Given the description of an element on the screen output the (x, y) to click on. 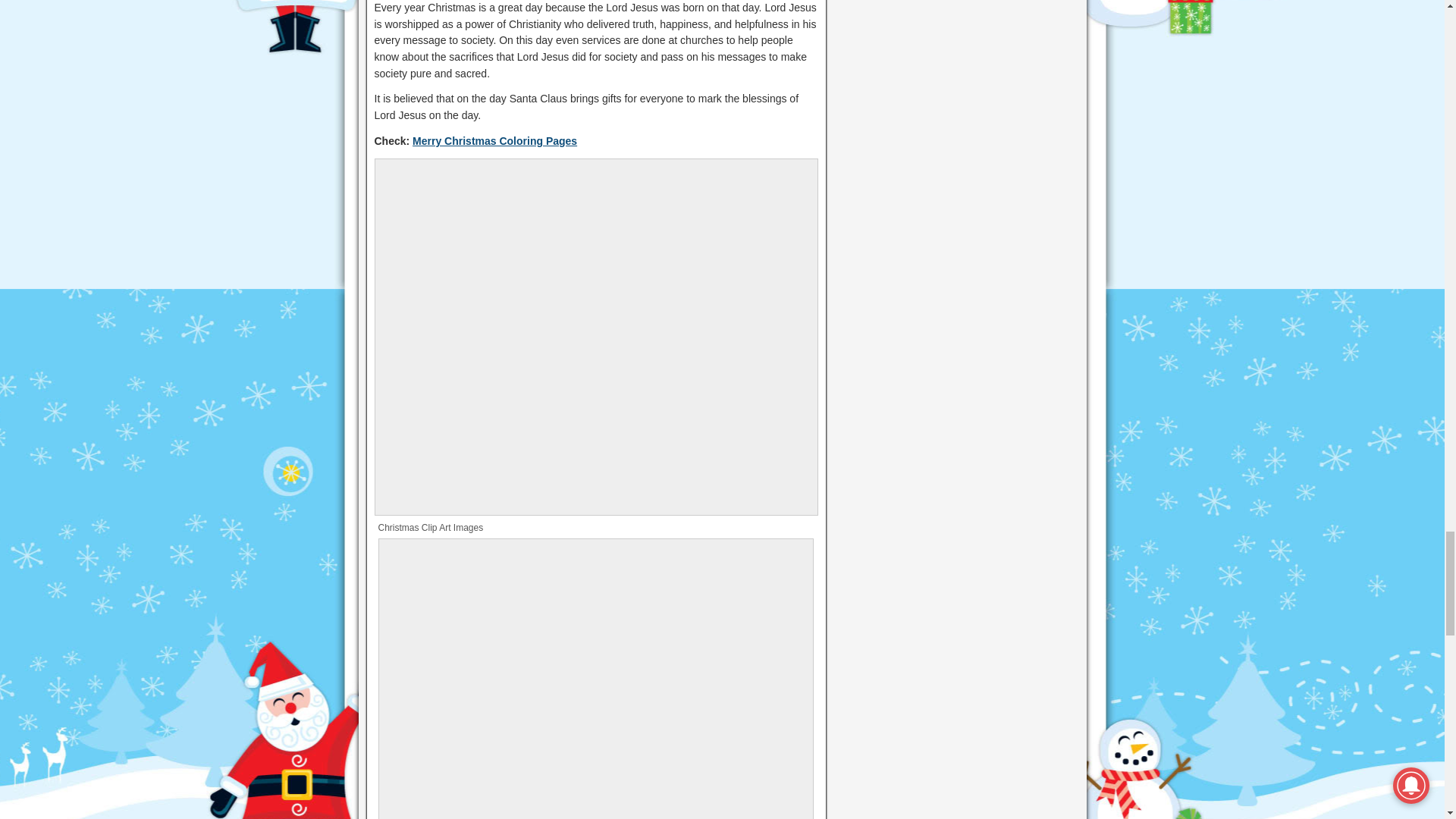
Merry Christmas Coloring Pages (494, 141)
